Given the description of an element on the screen output the (x, y) to click on. 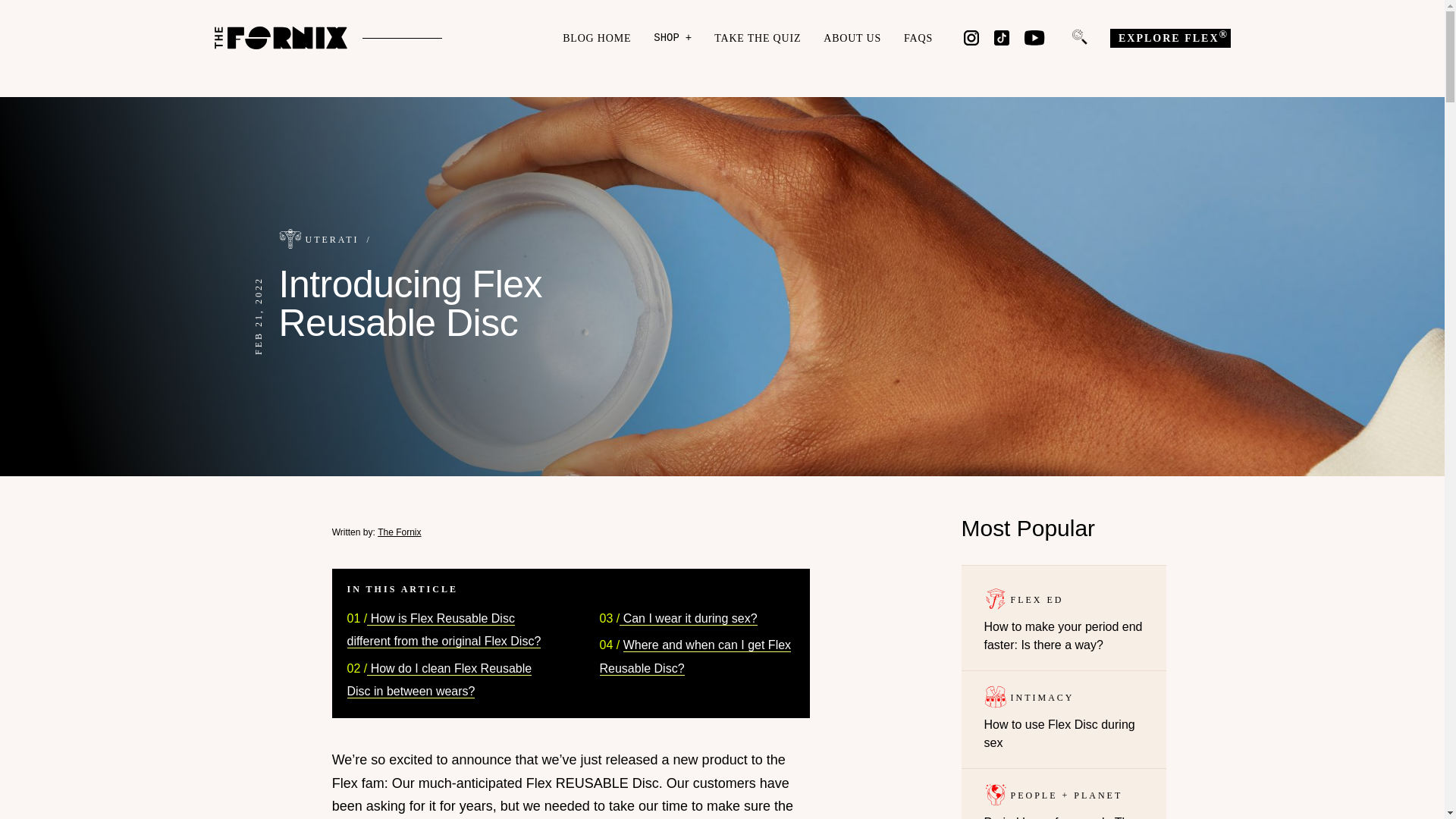
EXPLORE FLEX (1169, 37)
TAKE THE QUIZ (757, 37)
category-image (995, 599)
UTERATI (338, 237)
category-image (995, 793)
FAQS (918, 37)
category-image (1063, 617)
category-image (995, 696)
The Fornix (290, 238)
BLOG HOME (1063, 719)
ABOUT US (398, 532)
